Given the description of an element on the screen output the (x, y) to click on. 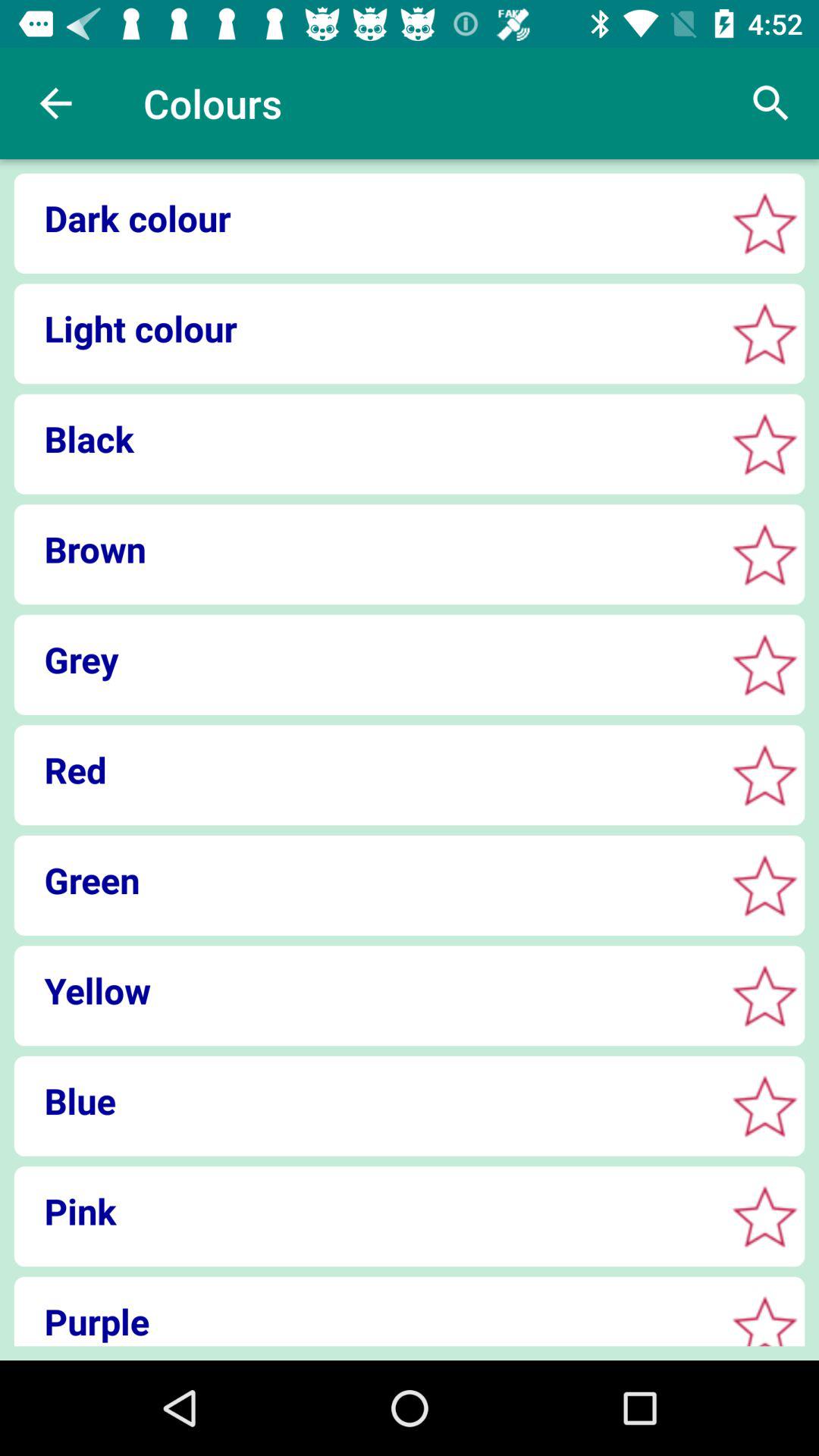
swipe until purple (364, 1321)
